Given the description of an element on the screen output the (x, y) to click on. 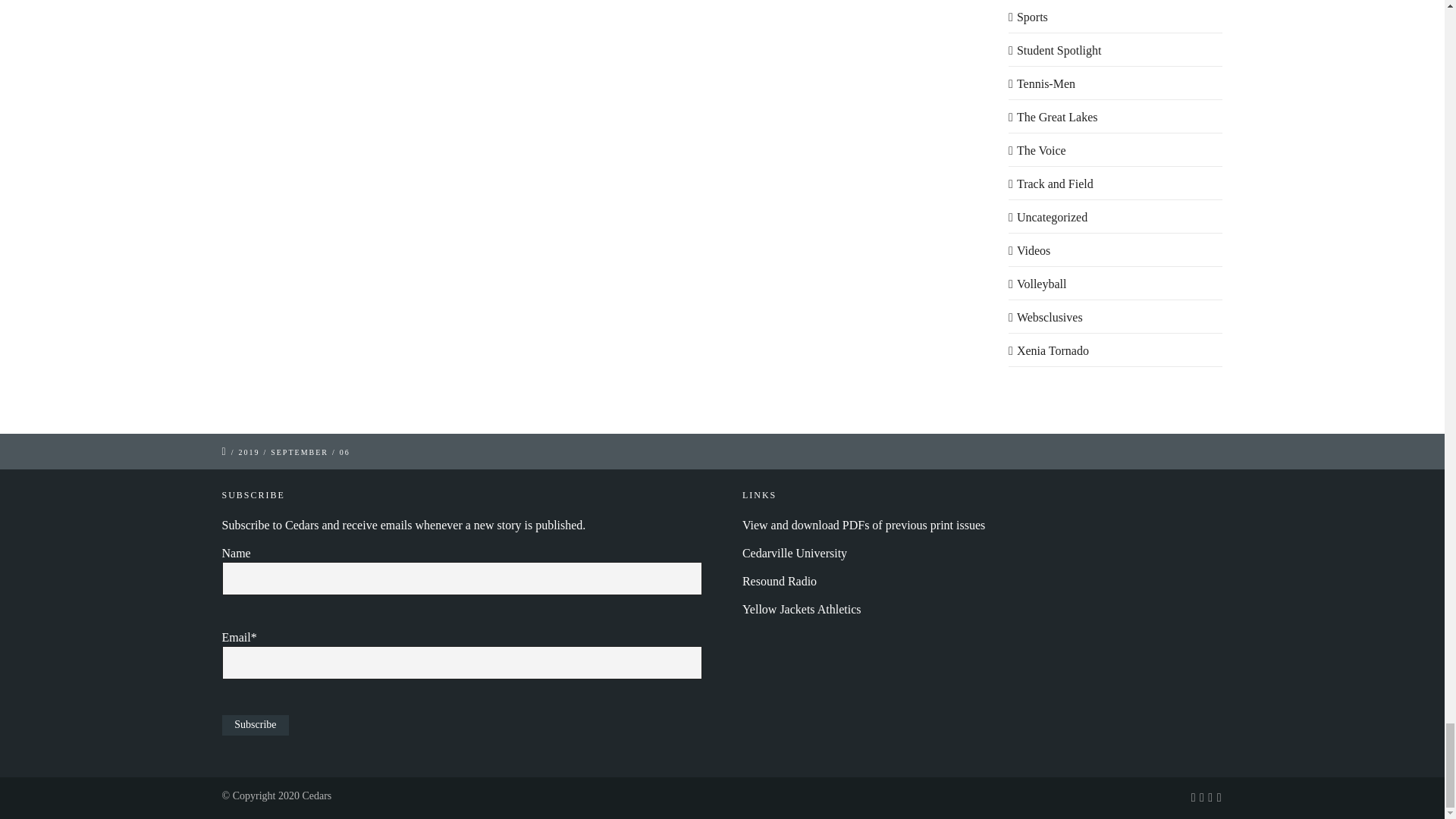
Resound Radio (779, 581)
Previous issues (863, 524)
Subscribe (254, 724)
Cedarville University (794, 553)
Yellow Jackets Athletics (801, 608)
